Given the description of an element on the screen output the (x, y) to click on. 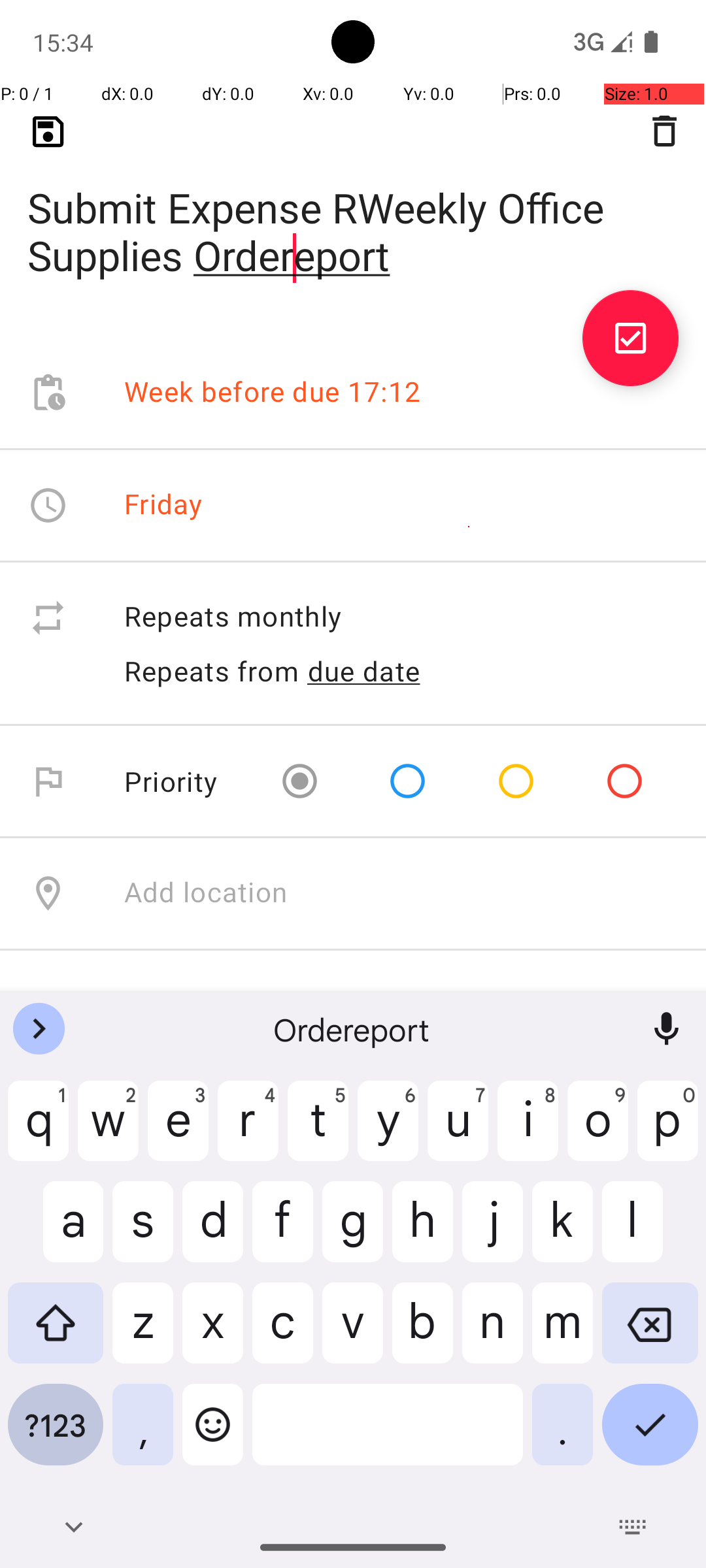
Submit Expense RWeekly Office Supplies Ordereport Element type: android.widget.EditText (353, 210)
Week before due 17:12 Element type: android.widget.TextView (272, 392)
Repeats monthly Element type: android.widget.TextView (400, 617)
Repeats from Element type: android.widget.TextView (211, 670)
due date Element type: android.widget.TextView (363, 670)
Ordereport Element type: android.widget.FrameLayout (352, 1028)
